Given the description of an element on the screen output the (x, y) to click on. 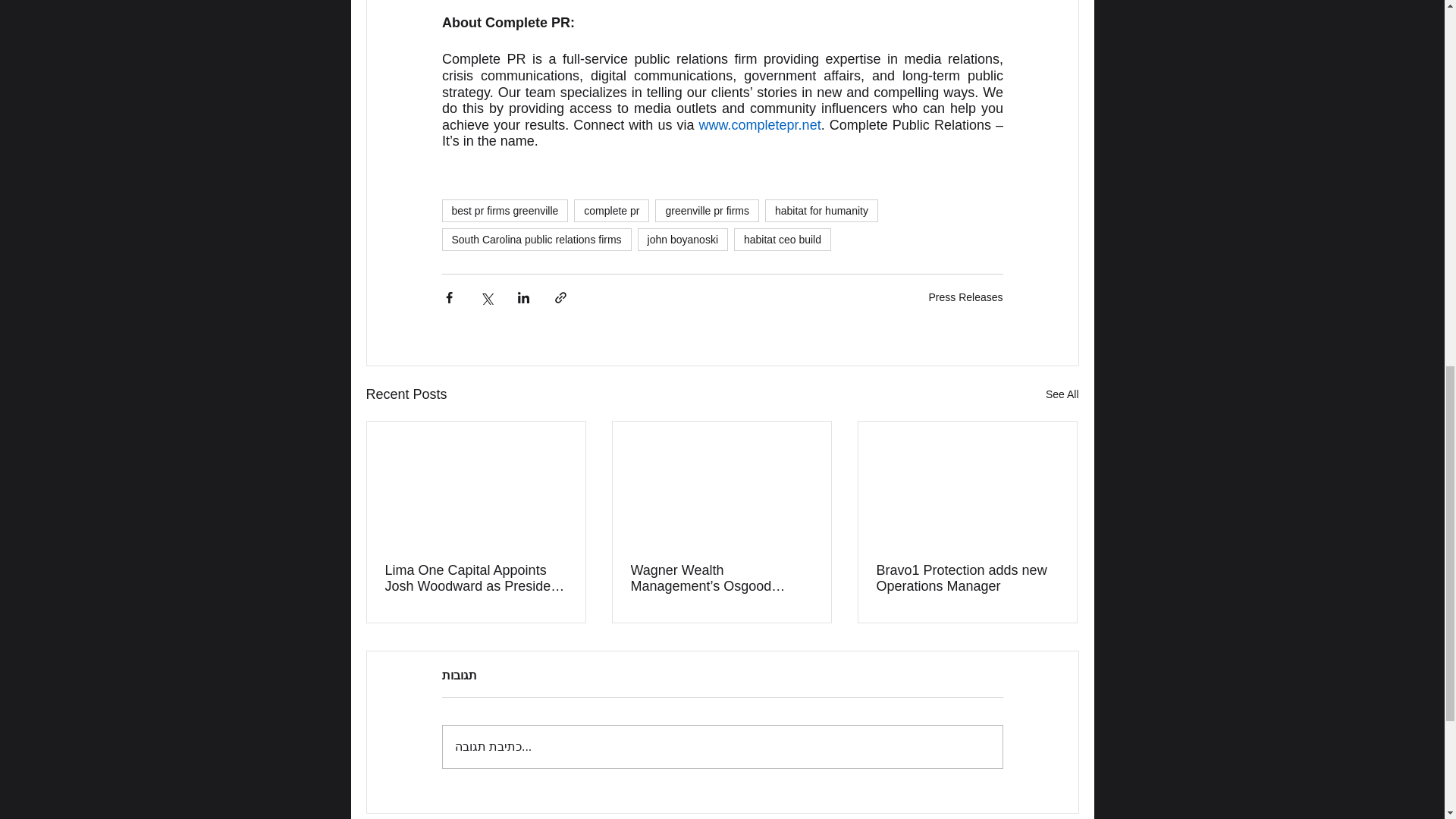
www.completepr.net (759, 124)
habitat for humanity (821, 210)
greenville pr firms (706, 210)
john boyanoski (682, 239)
Press Releases (965, 297)
South Carolina public relations firms (535, 239)
best pr firms greenville (504, 210)
See All (1061, 394)
Bravo1 Protection adds new Operations Manager (967, 578)
complete pr (611, 210)
habitat ceo build (782, 239)
